Given the description of an element on the screen output the (x, y) to click on. 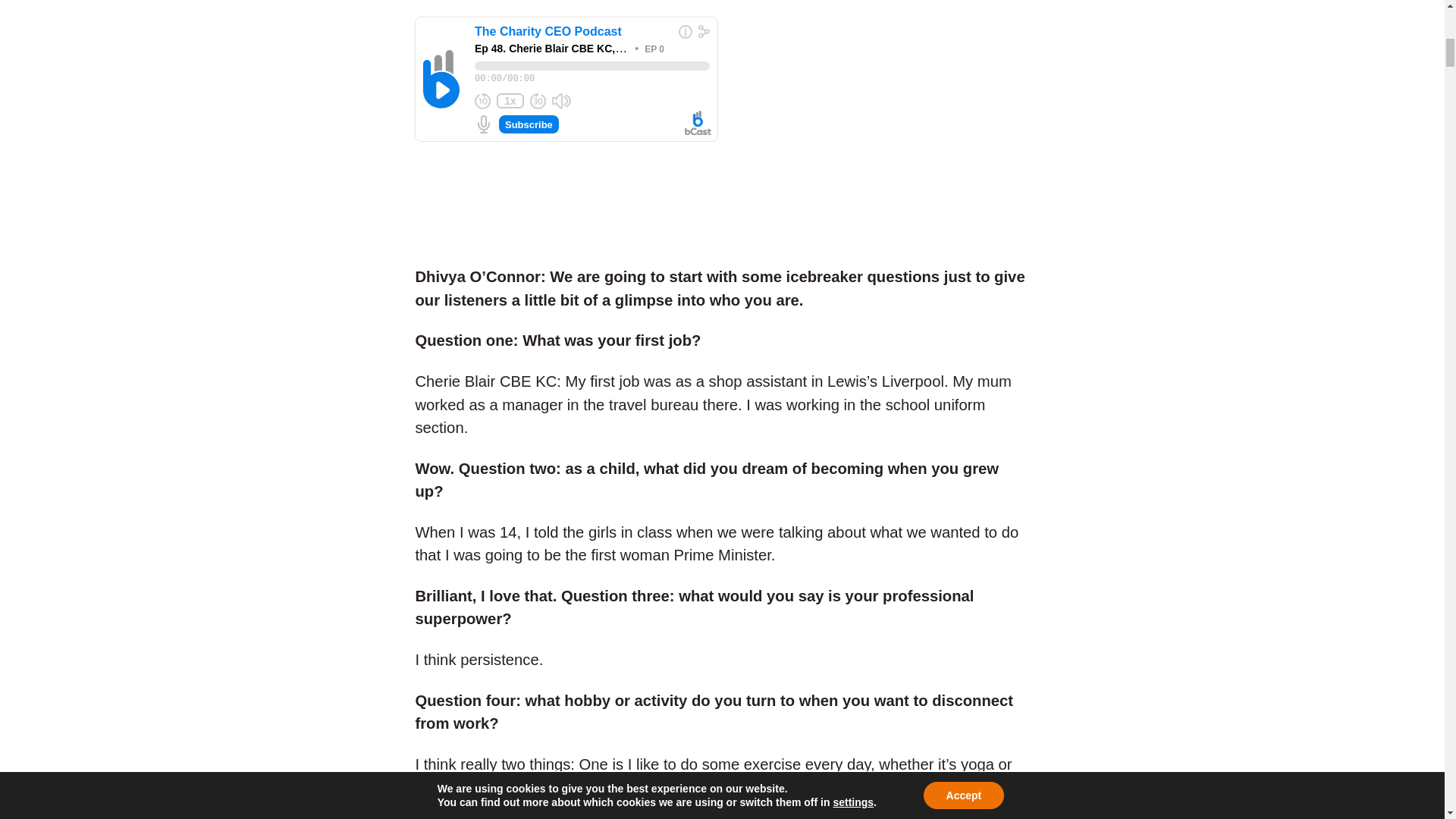
Listen to the episode here! (565, 84)
